Given the description of an element on the screen output the (x, y) to click on. 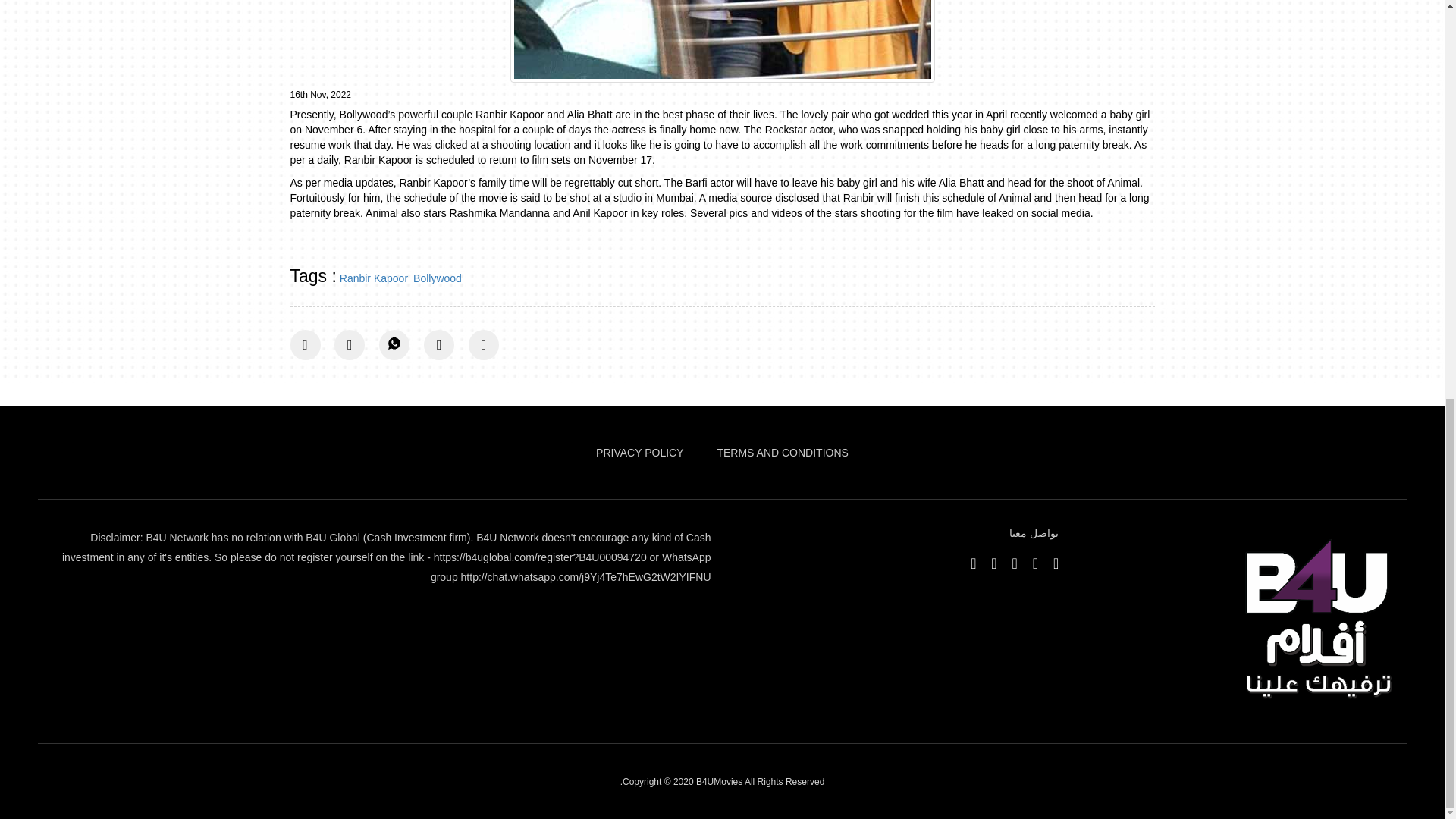
TERMS AND CONDITIONS (781, 452)
Ranbir Kapoor (373, 277)
PRIVACY POLICY (638, 452)
Bollywood (437, 277)
